Given the description of an element on the screen output the (x, y) to click on. 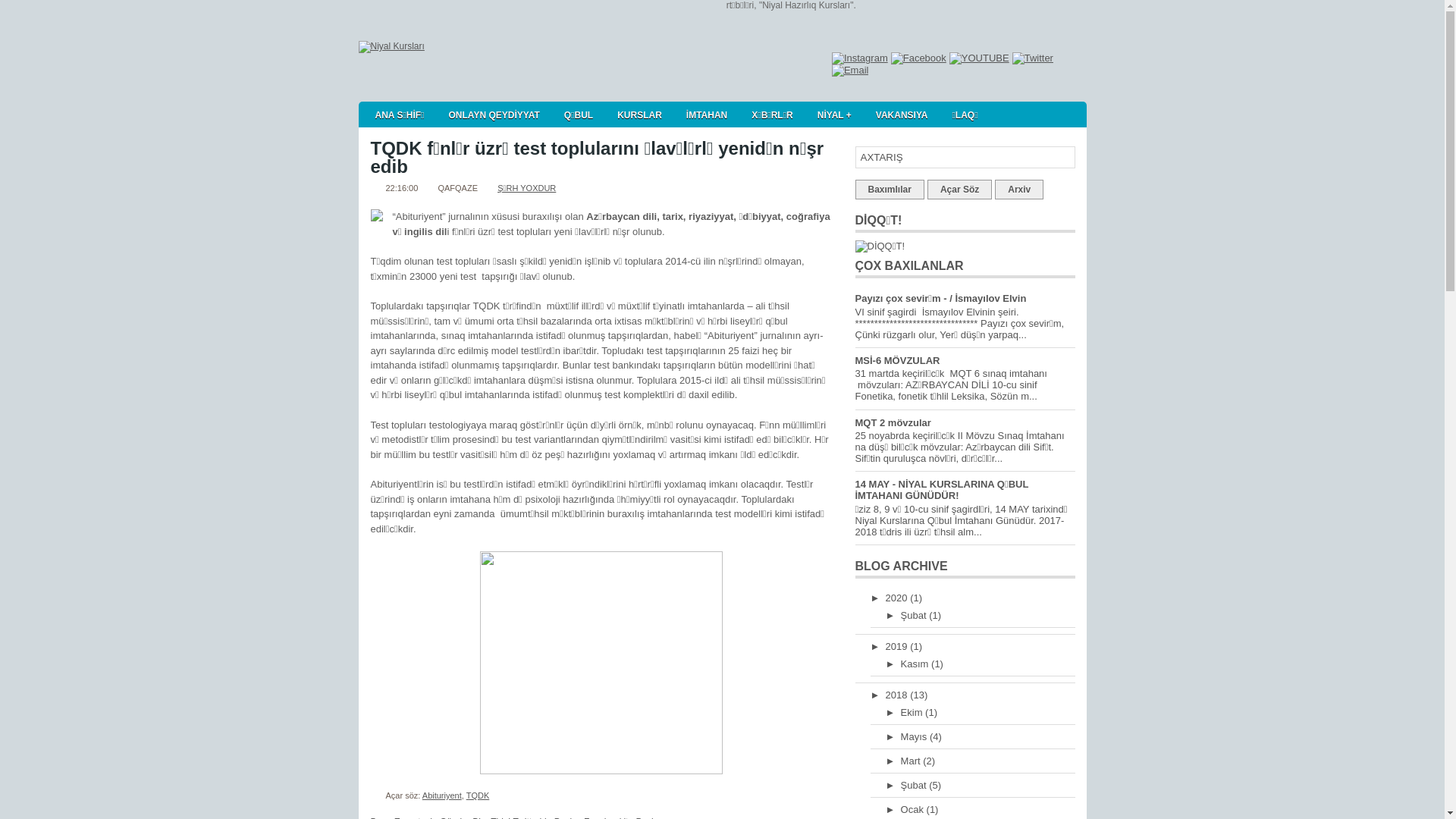
KURSLAR Element type: text (639, 113)
Instagram Element type: hover (859, 58)
Facebook Element type: hover (918, 58)
Ekim Element type: text (912, 712)
Mart Element type: text (911, 760)
VAKANSIYA Element type: text (901, 113)
Abituriyent Element type: text (441, 795)
2019 Element type: text (897, 646)
Twitter Element type: hover (1032, 58)
Ocak Element type: text (913, 809)
2018 Element type: text (897, 694)
Arxiv Element type: text (1018, 189)
YouTube Element type: hover (979, 58)
Type and hit enter Element type: hover (965, 157)
TQDK Element type: text (477, 795)
Email Element type: hover (850, 70)
2020 Element type: text (897, 597)
